Given the description of an element on the screen output the (x, y) to click on. 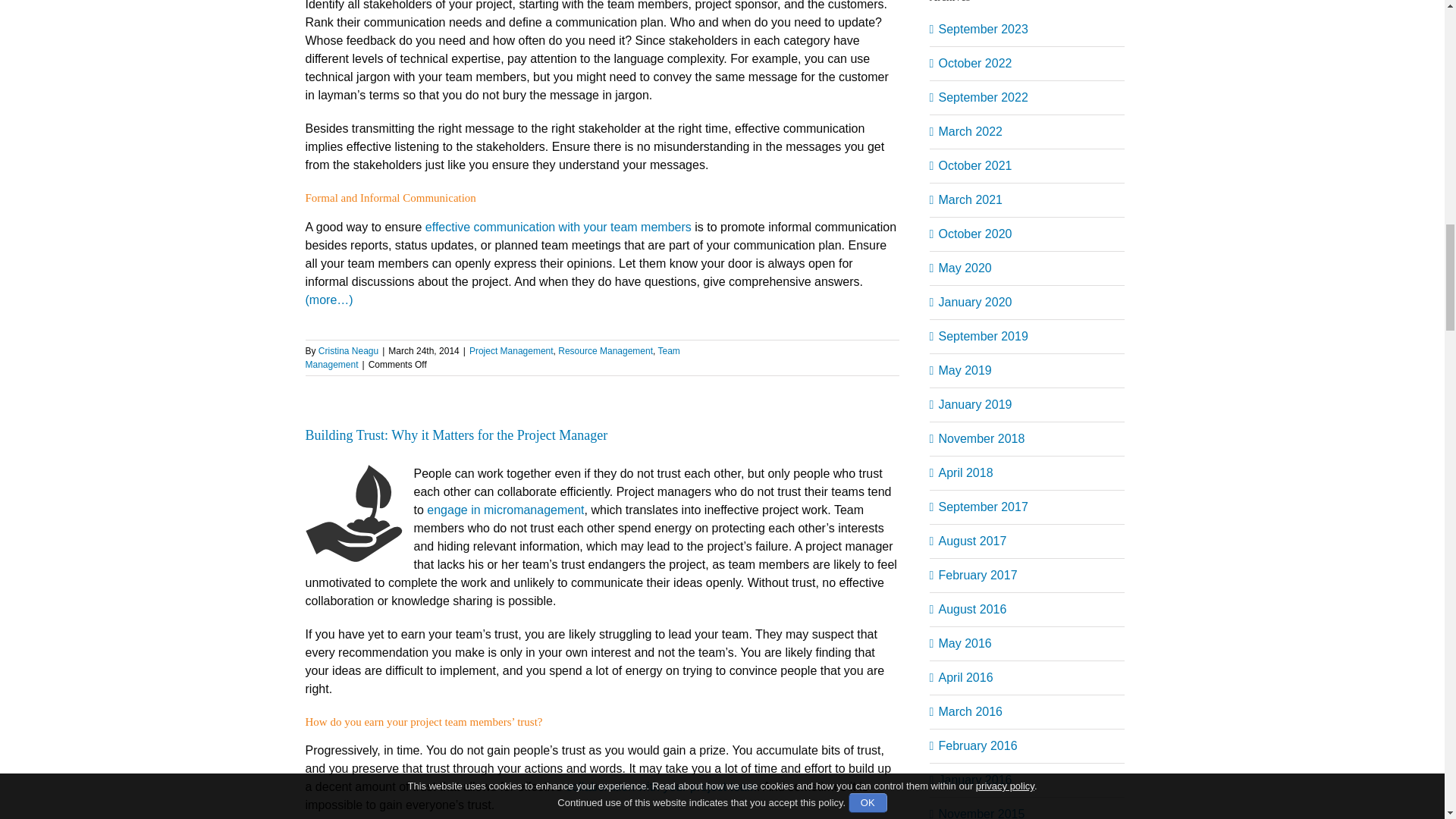
building trust (352, 512)
effective communication with your team members (558, 226)
Project Management (510, 350)
Posts by Cristina Neagu (348, 350)
Cristina Neagu (348, 350)
Team Management (491, 357)
Resource Management (604, 350)
